Given the description of an element on the screen output the (x, y) to click on. 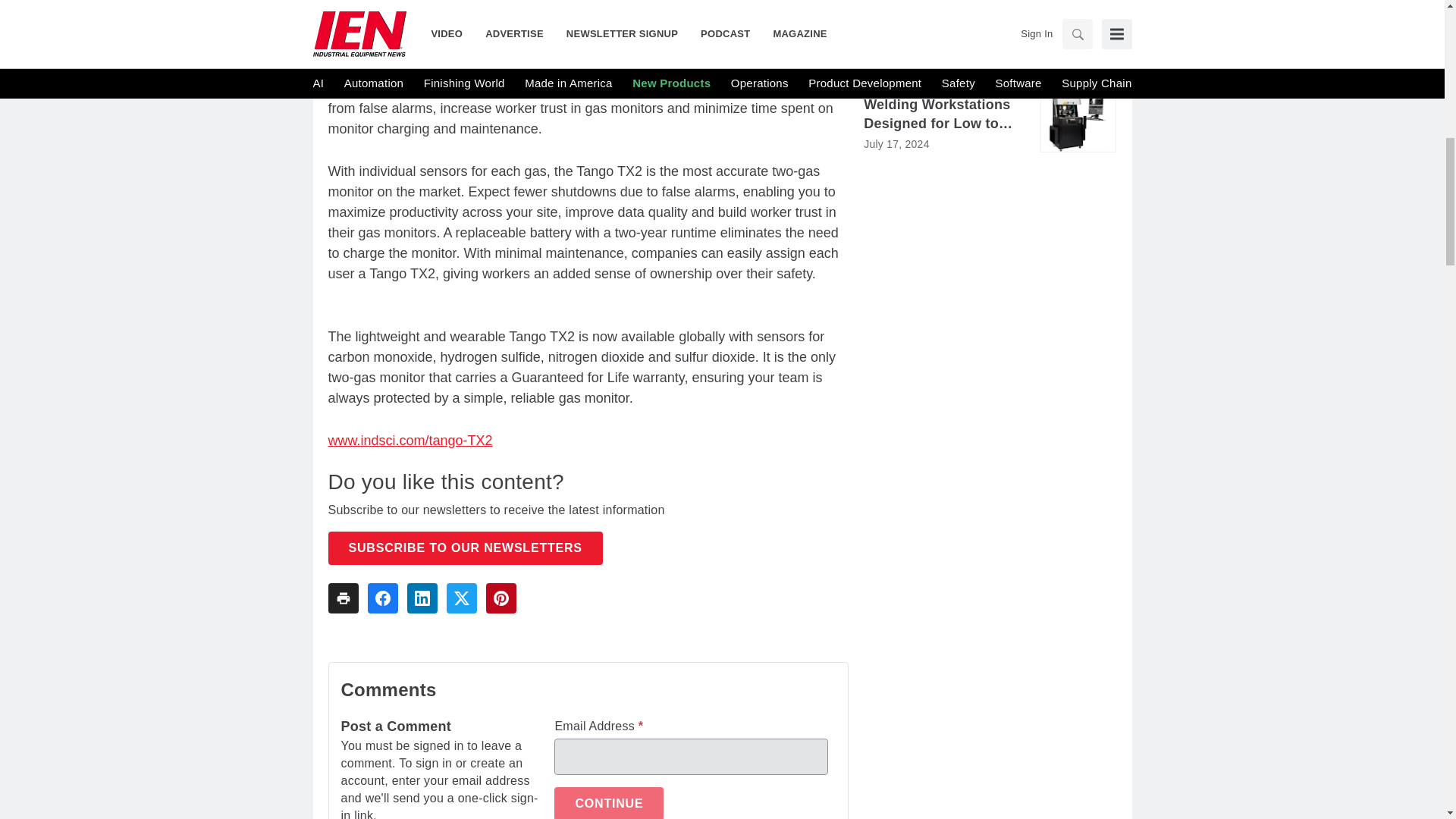
Share To facebook (381, 598)
Share To print (342, 598)
Share To linkedin (421, 598)
Share To pinterest (499, 598)
Share To twitter (460, 598)
